Given the description of an element on the screen output the (x, y) to click on. 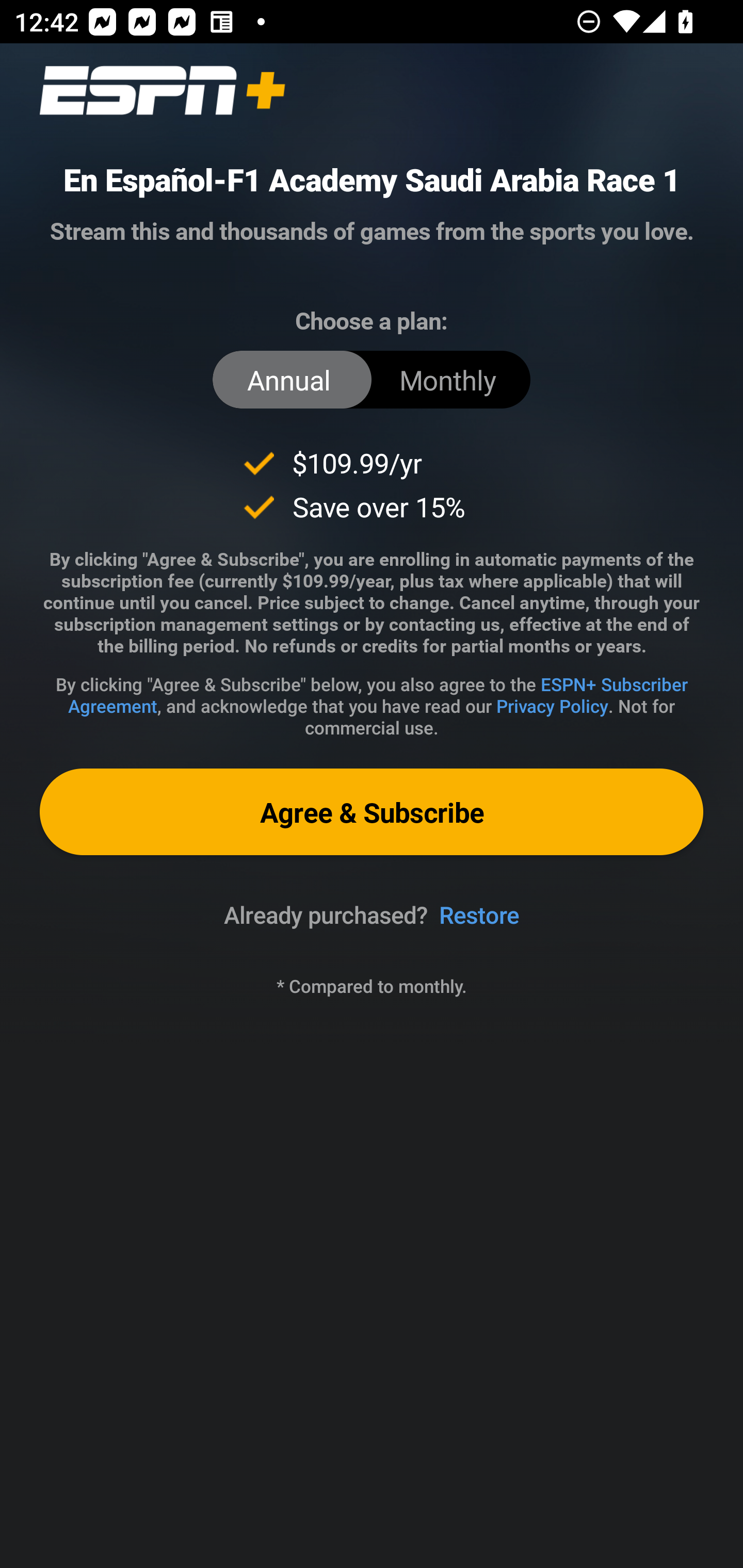
Agree & Subscribe (371, 811)
